Given the description of an element on the screen output the (x, y) to click on. 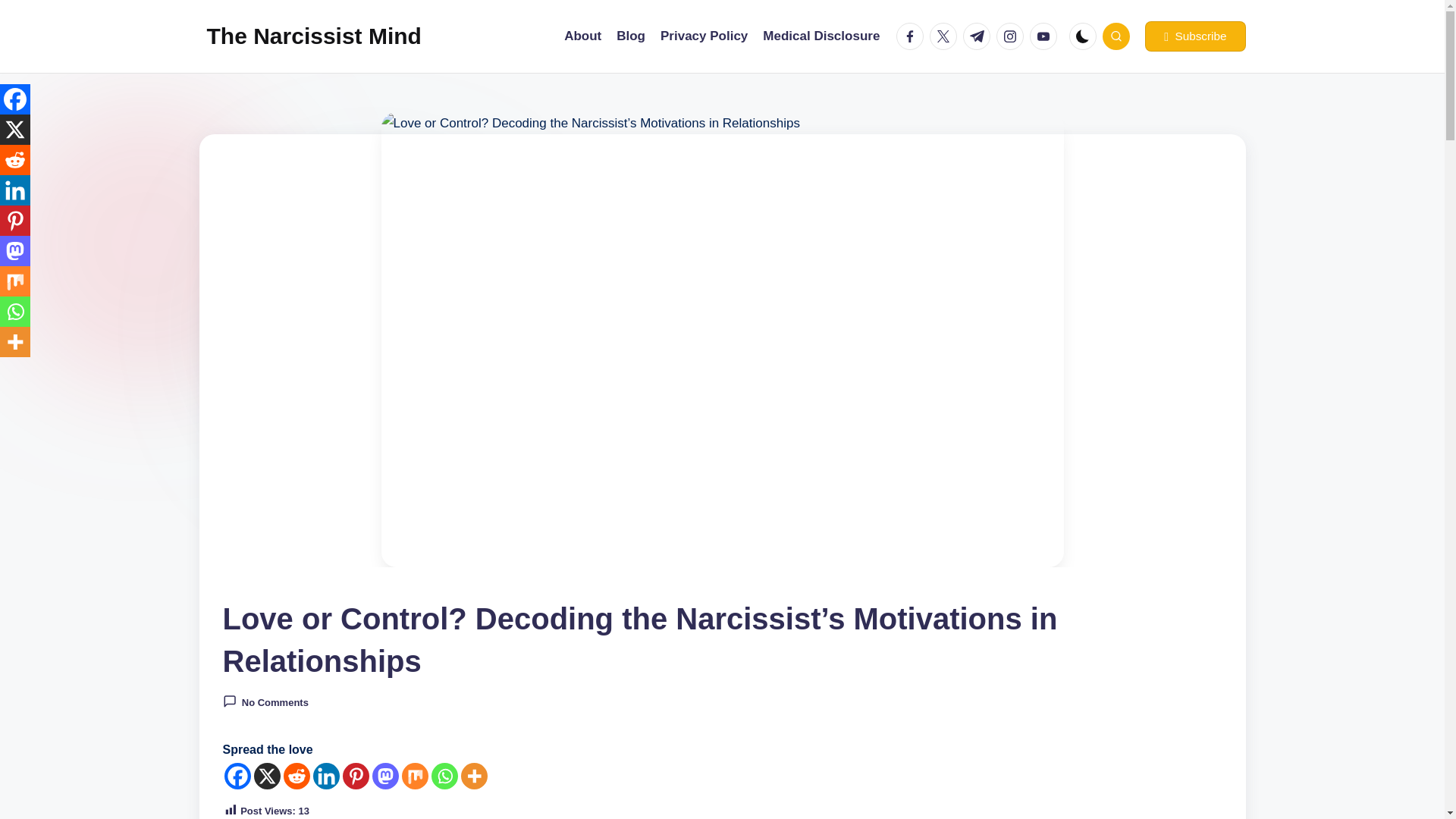
twitter.com (946, 35)
Facebook (15, 99)
More (474, 775)
instagram.com (1012, 35)
Whatsapp (443, 775)
Pinterest (355, 775)
facebook.com (913, 35)
The Narcissist Mind (313, 36)
Subscribe (1194, 36)
Linkedin (326, 775)
Facebook (237, 775)
About (582, 36)
Privacy Policy (704, 36)
Reddit (15, 159)
Reddit (296, 775)
